Given the description of an element on the screen output the (x, y) to click on. 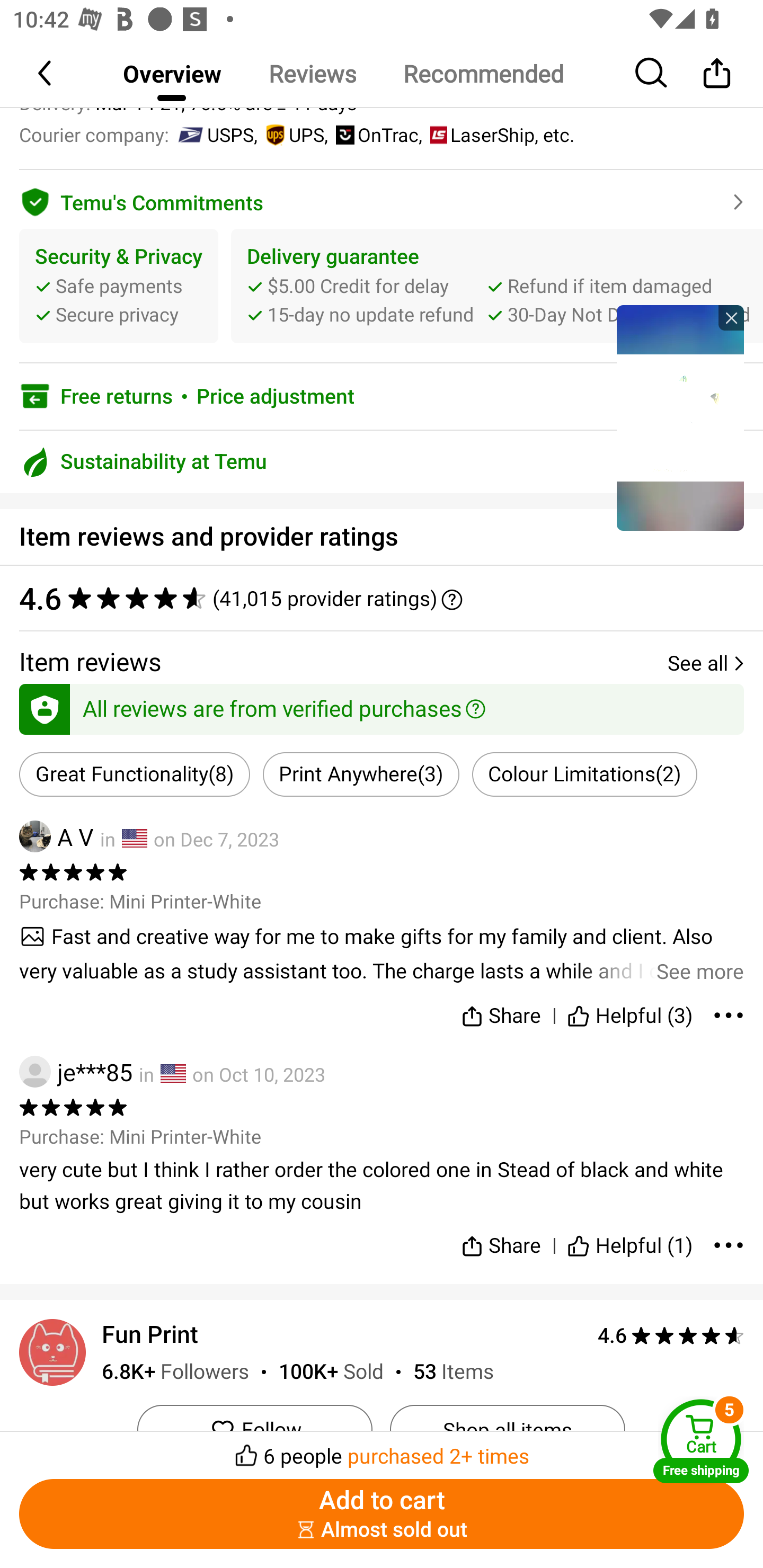
Overview (171, 72)
Reviews (311, 72)
Recommended (482, 72)
Back (46, 72)
Share (716, 72)
Temu's Commitments (381, 198)
Security & Privacy Safe payments Secure privacy (118, 285)
tronplayer_view (680, 417)
Free returns￼Price adjustment (381, 396)
Sustainability at Temu 5M+ trees (381, 462)
4.6 ‪(41,015 provider ratings) (381, 598)
All reviews are from verified purchases  (381, 706)
Great Functionality(8) (134, 774)
Print Anywhere(3) (360, 774)
Colour Limitations(2) (584, 774)
A V (56, 836)
See more (381, 953)
  Share (500, 1011)
  Helpful (3) (629, 1011)
je***85 (75, 1071)
  Share (500, 1237)
  Helpful (1) (629, 1237)
Cart Free shipping Cart (701, 1440)
￼￼6 people purchased 2+ times (381, 1450)
Add to cart ￼￼Almost sold out (381, 1513)
